Given the description of an element on the screen output the (x, y) to click on. 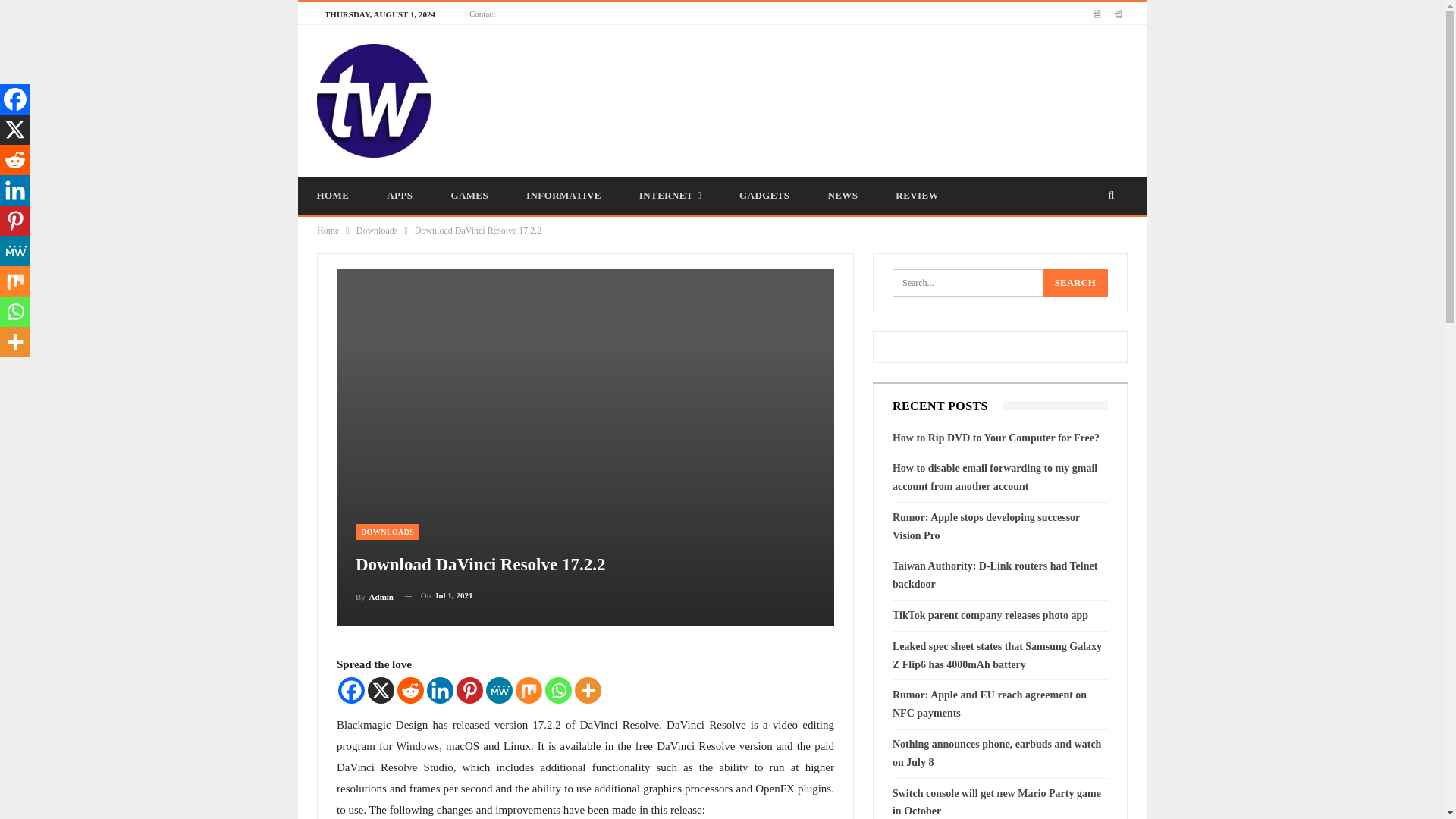
Downloads (376, 230)
By Admin (374, 595)
X (15, 129)
Facebook (351, 689)
TOP LISTS (490, 233)
Home (328, 230)
GADGETS (764, 195)
Linkedin (439, 689)
Mix (528, 689)
More (588, 689)
Reddit (410, 689)
CONTACT (777, 233)
Search (1075, 281)
Pinterest (470, 689)
Browse Author Articles (374, 595)
